Given the description of an element on the screen output the (x, y) to click on. 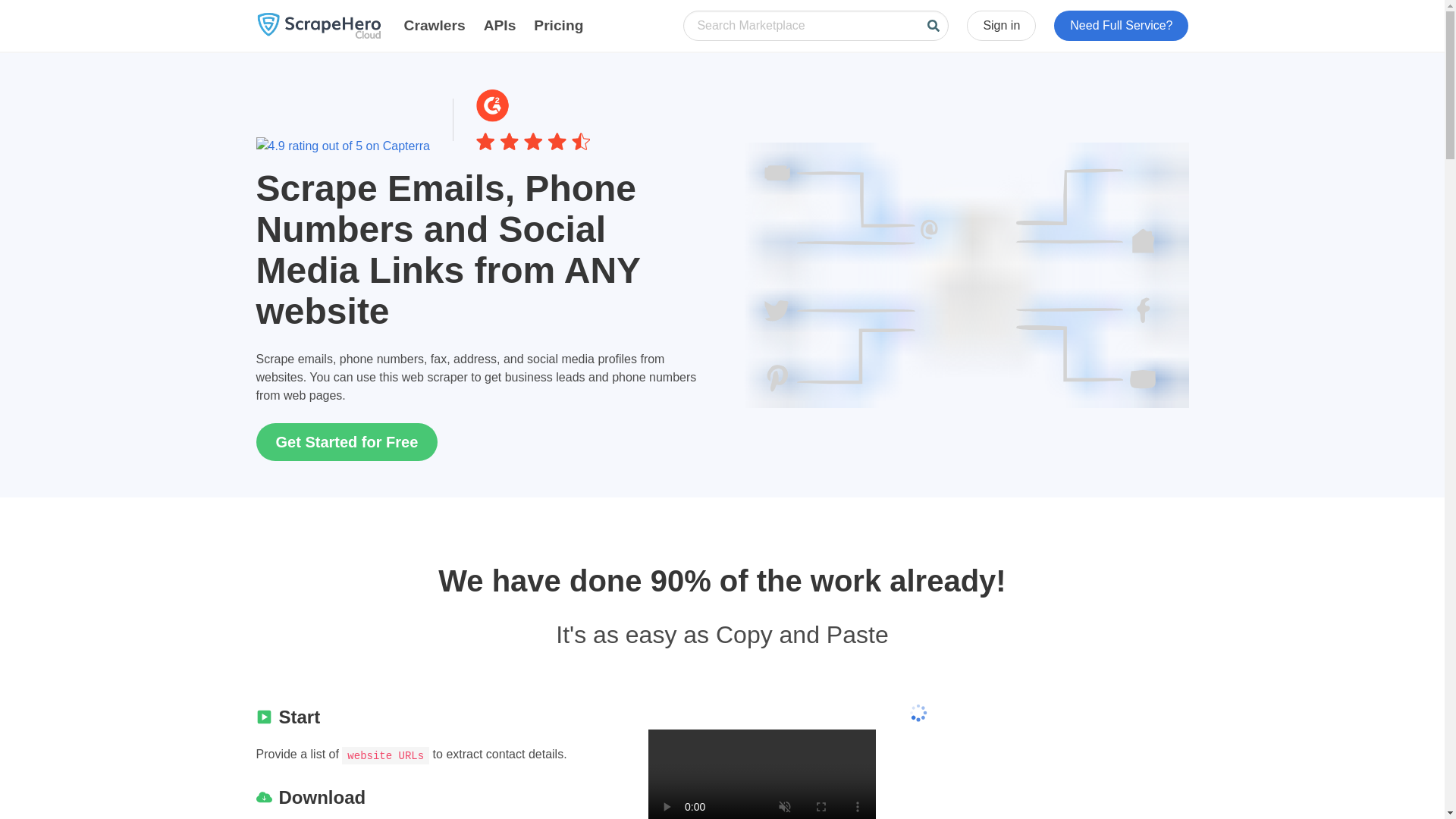
Need Full Service? (1121, 25)
Get Started for Free (347, 442)
Pricing (558, 26)
APIs (499, 26)
Sign in (1000, 25)
Crawlers (434, 26)
